Given the description of an element on the screen output the (x, y) to click on. 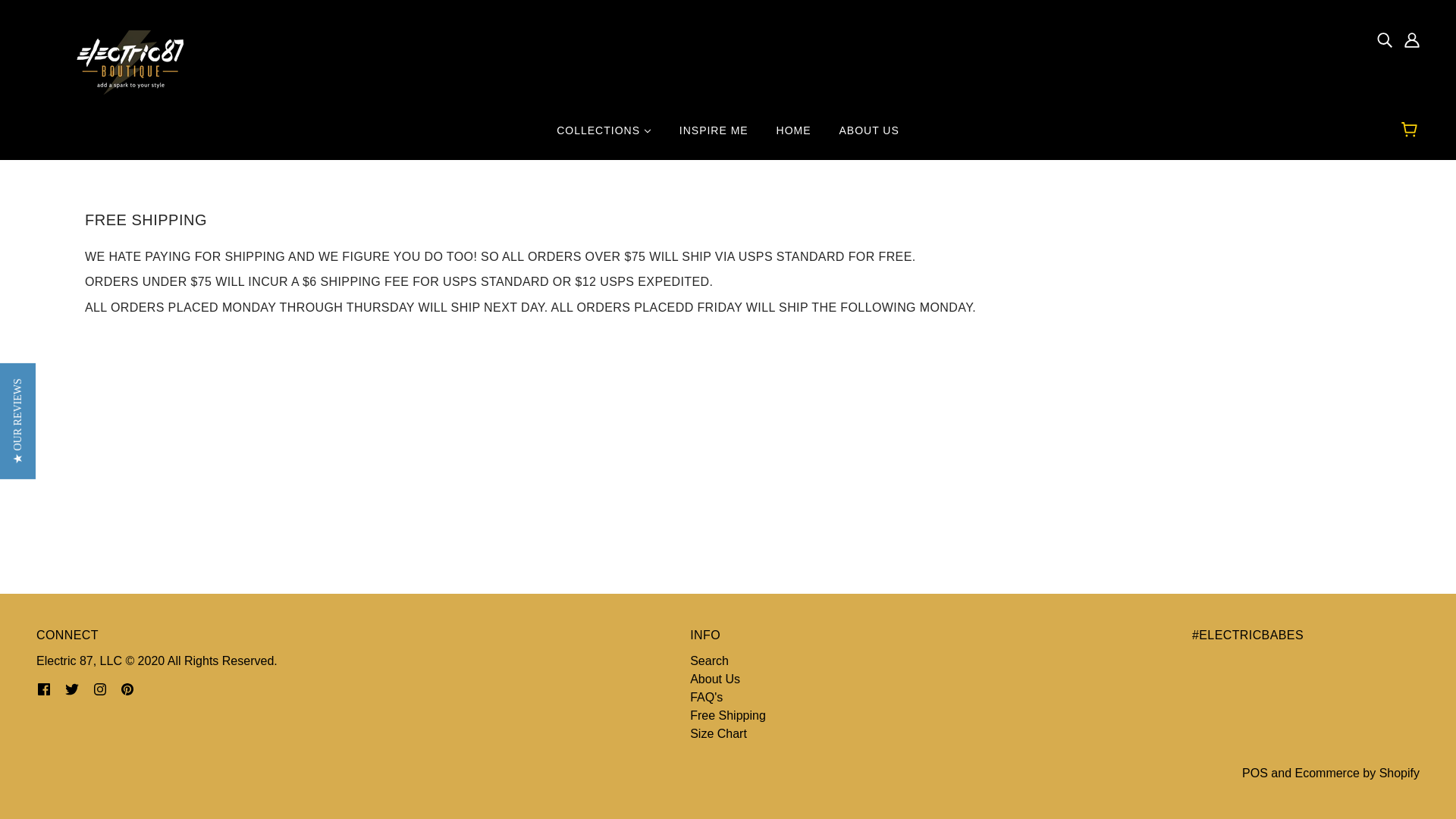
Search (709, 660)
ABOUT US (869, 136)
COLLECTIONS (603, 136)
Electric 87 (123, 61)
About Us (714, 678)
Size Chart (718, 733)
Free Shipping (727, 715)
FAQ's (706, 697)
HOME (794, 136)
Search (709, 660)
About Us (714, 678)
INSPIRE ME (713, 136)
FAQ's (706, 697)
